Given the description of an element on the screen output the (x, y) to click on. 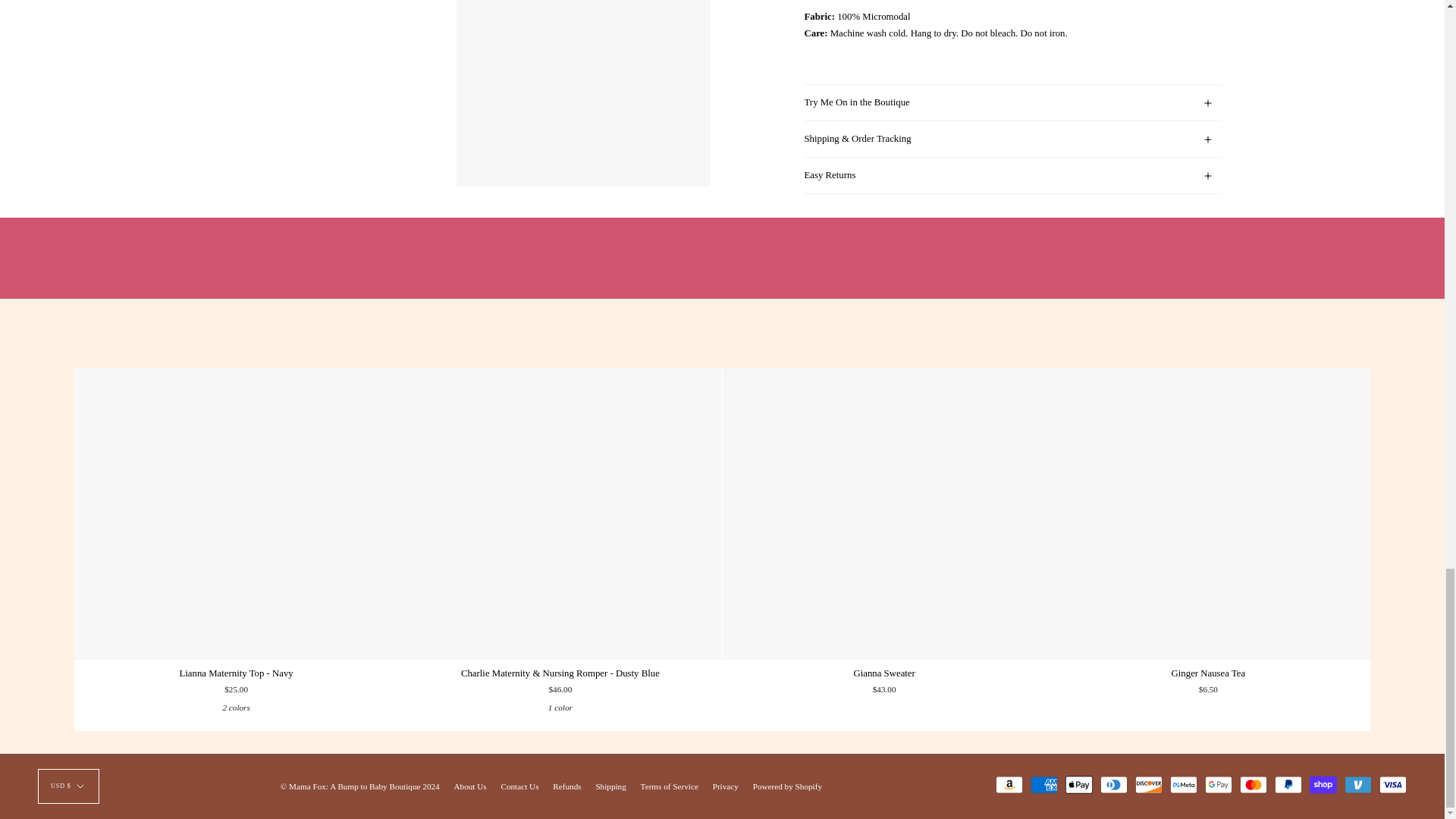
Amazon (1009, 784)
Diners Club (1113, 784)
Discover (1148, 784)
American Express (1044, 784)
Apple Pay (1079, 784)
